Given the description of an element on the screen output the (x, y) to click on. 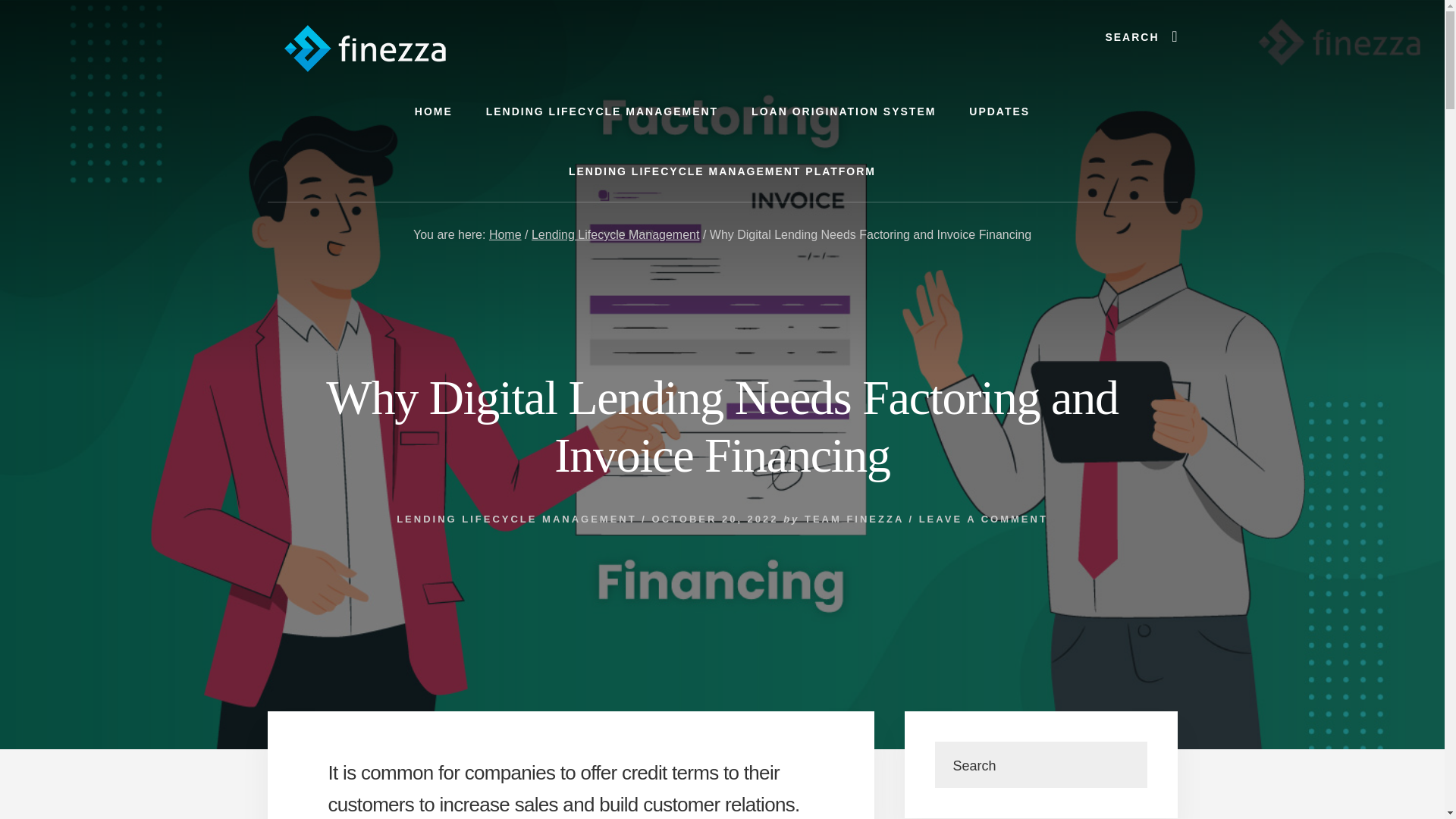
Lending Lifecycle Management (614, 234)
HOME (432, 111)
TEAM FINEZZA (854, 518)
LENDING LIFECYCLE MANAGEMENT PLATFORM (722, 171)
Home (505, 234)
UPDATES (999, 111)
